Given the description of an element on the screen output the (x, y) to click on. 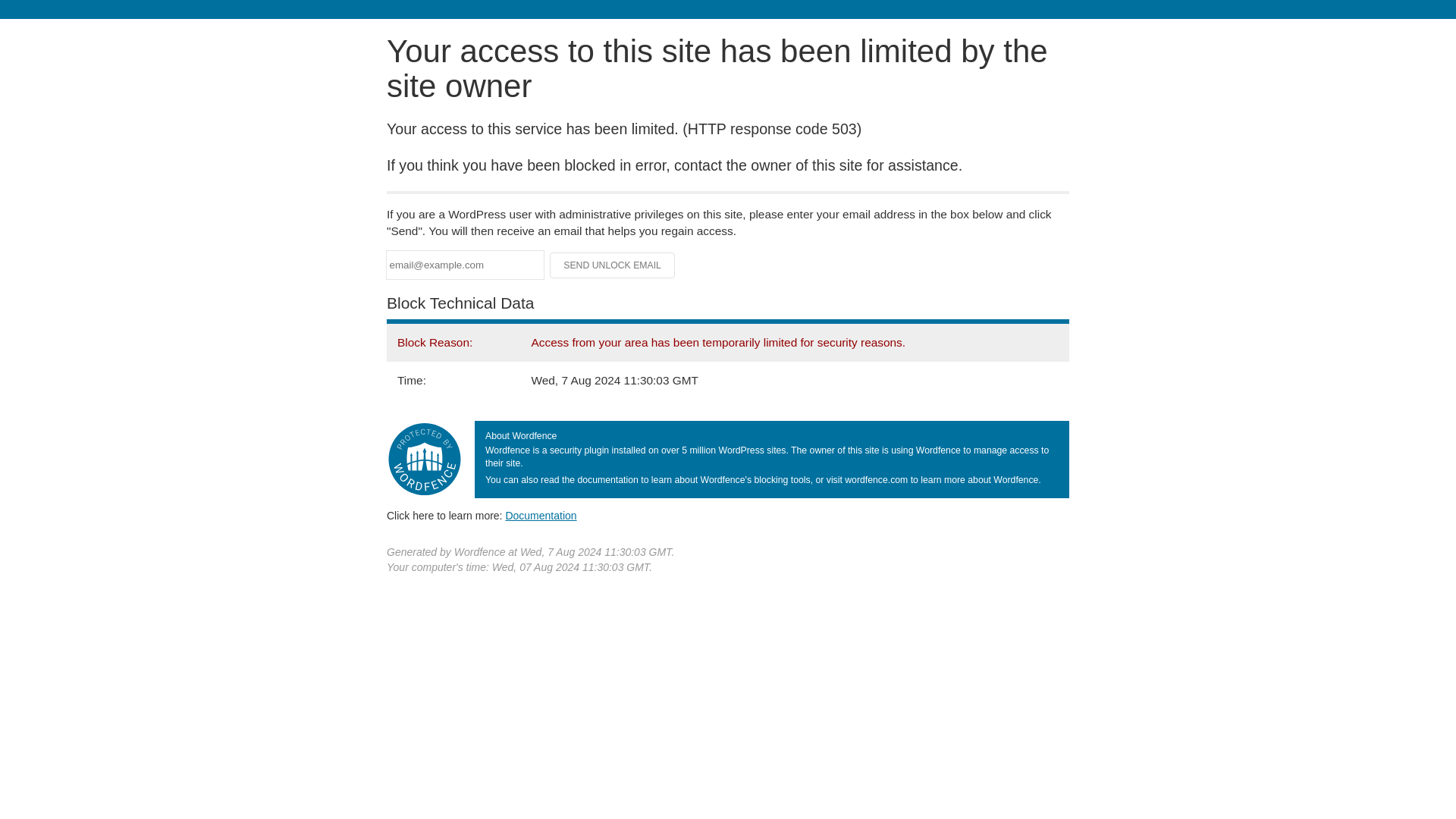
Send Unlock Email (612, 265)
Send Unlock Email (612, 265)
Documentation (540, 515)
